Given the description of an element on the screen output the (x, y) to click on. 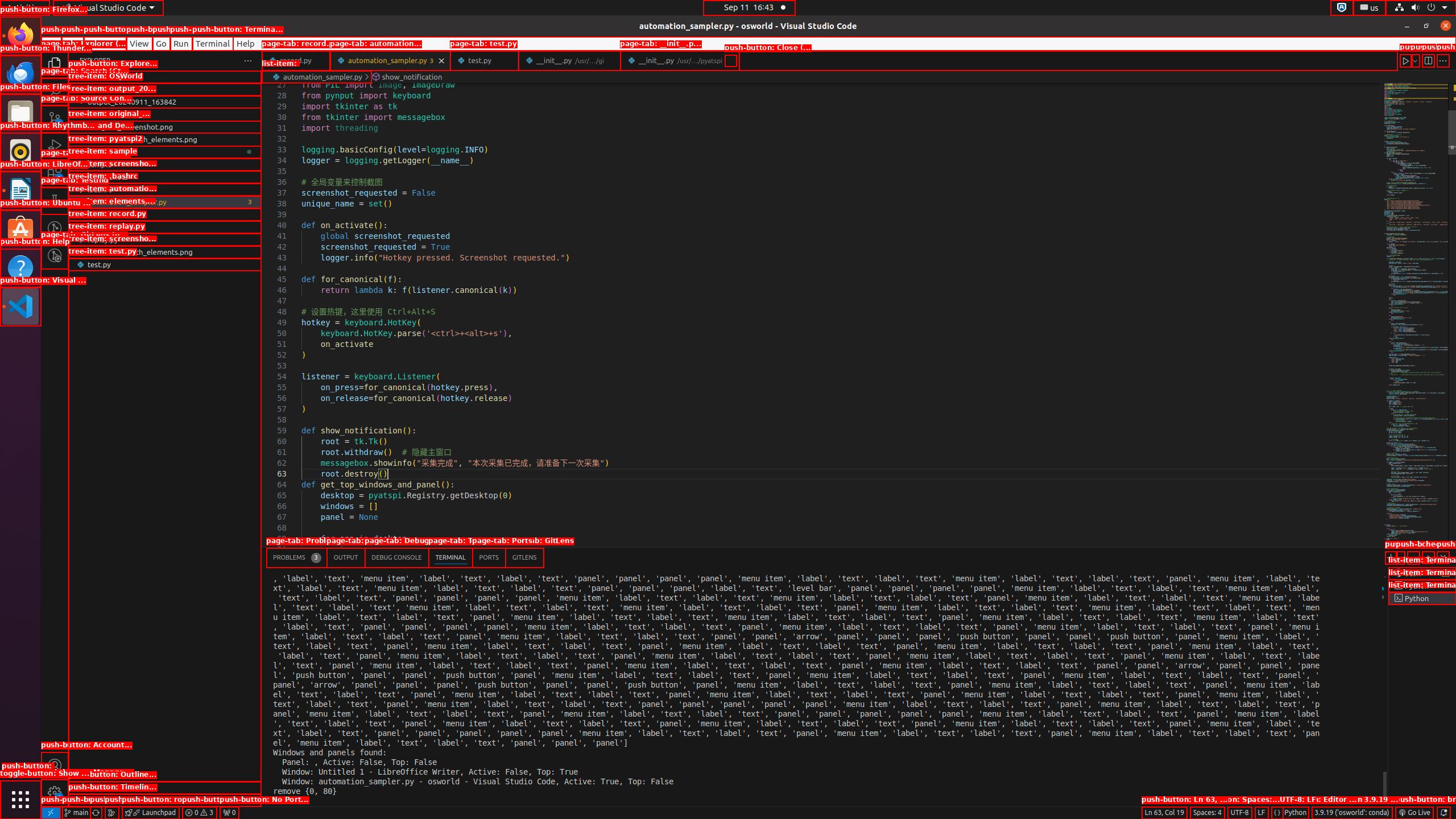
Maximize Panel Size Element type: check-box (1427, 557)
No Ports Forwarded Element type: push-button (228, 812)
__init__.py Element type: page-tab (679, 60)
automation_sampler.py Element type: page-tab (389, 60)
broadcast Go Live, Click to run live server Element type: push-button (1414, 812)
